Given the description of an element on the screen output the (x, y) to click on. 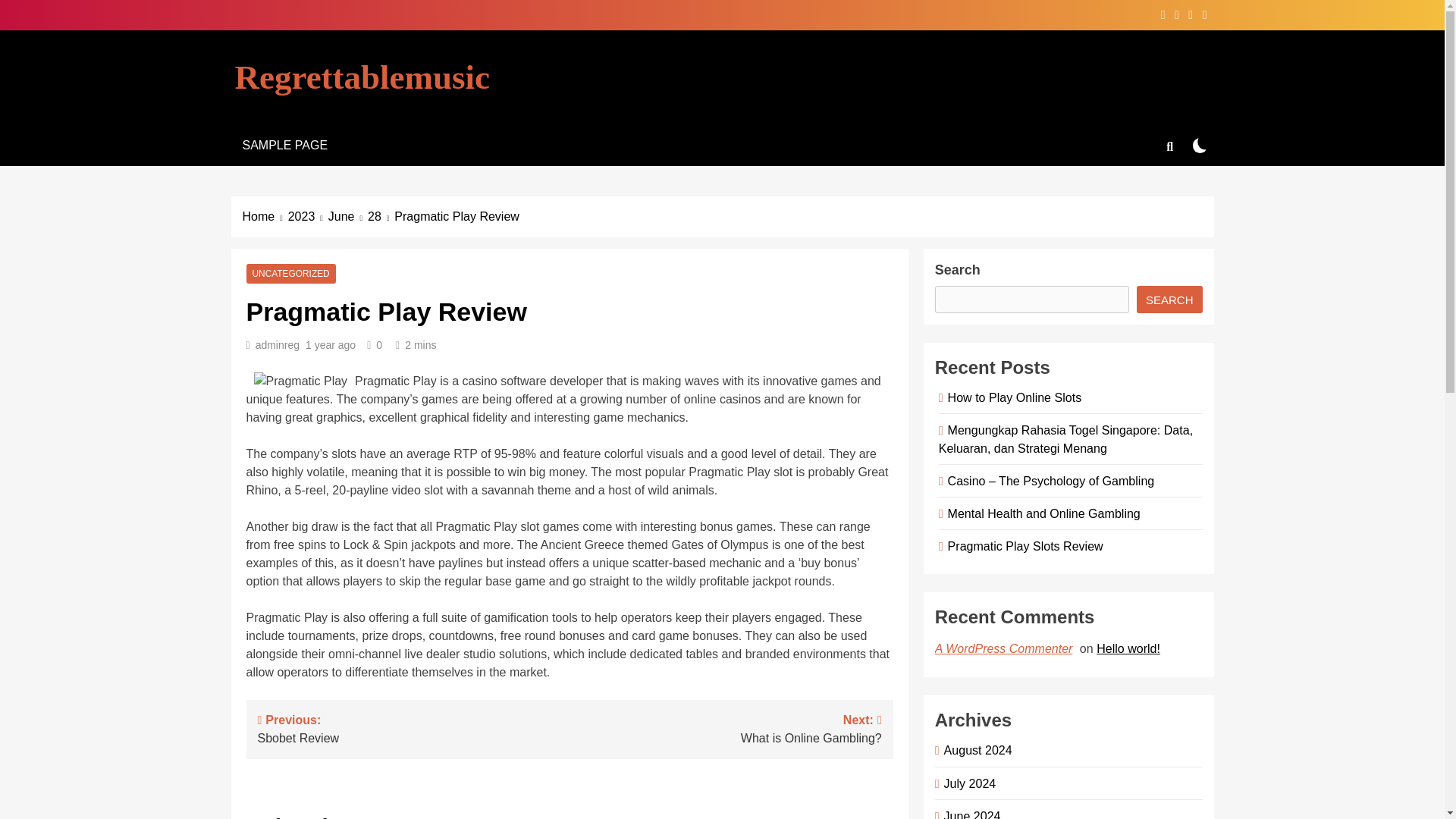
June (413, 727)
UNCATEGORIZED (348, 217)
July 2024 (290, 273)
August 2024 (967, 783)
Pragmatic Play Slots Review (975, 749)
June 2024 (1022, 545)
28 (969, 814)
SAMPLE PAGE (381, 217)
adminreg (284, 145)
Mental Health and Online Gambling (277, 345)
Hello world! (1041, 513)
SEARCH (725, 727)
